Given the description of an element on the screen output the (x, y) to click on. 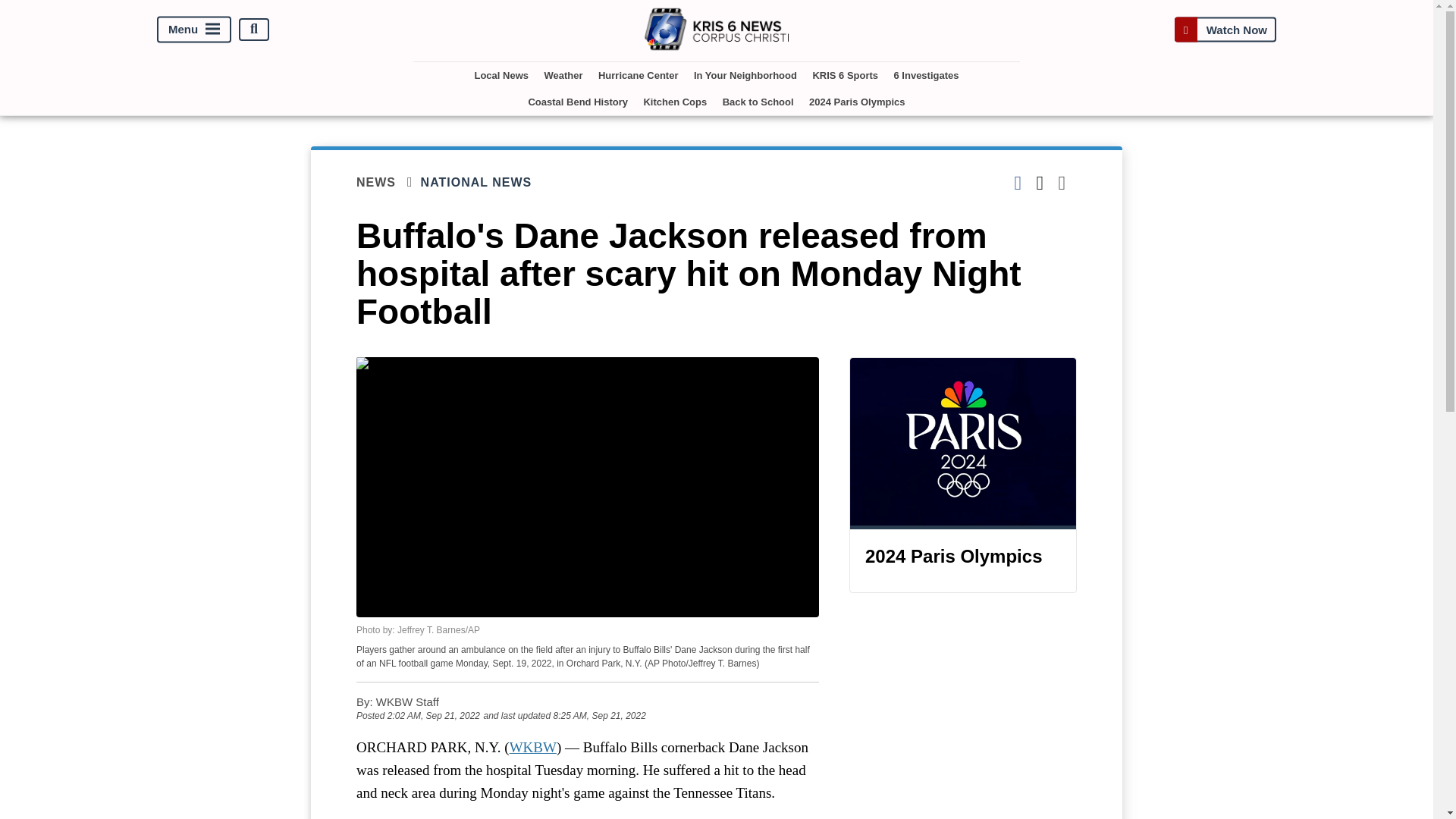
Menu (194, 28)
Watch Now (1224, 29)
